Given the description of an element on the screen output the (x, y) to click on. 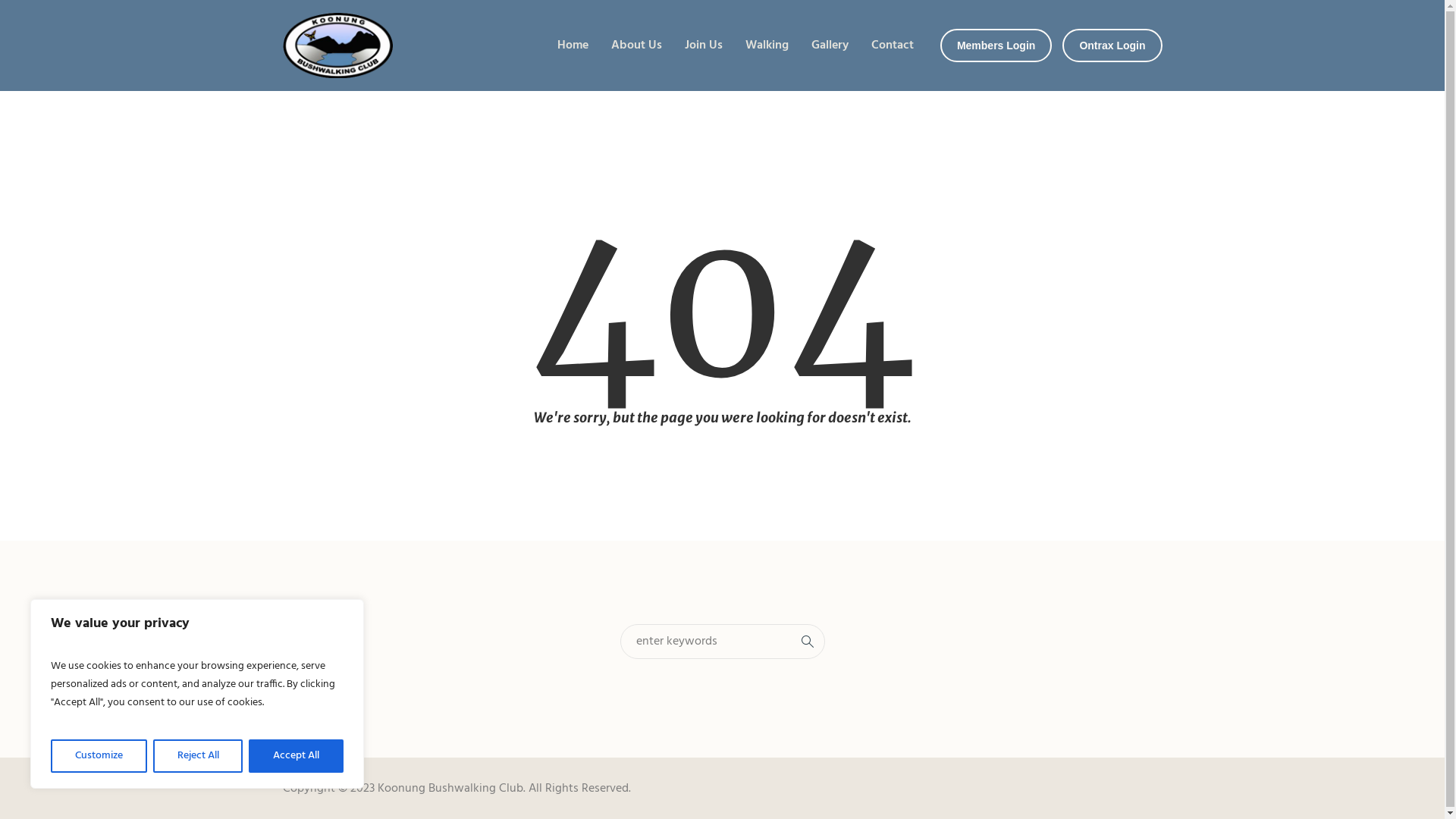
Reject All Element type: text (198, 755)
Home Element type: text (572, 45)
Walking Element type: text (767, 45)
Join Us Element type: text (703, 45)
About Us Element type: text (636, 45)
Gallery Element type: text (829, 45)
Contact Element type: text (892, 45)
Customize Element type: text (98, 755)
Accept All Element type: text (295, 755)
Ontrax Login Element type: text (1111, 45)
Members Login Element type: text (995, 45)
